Given the description of an element on the screen output the (x, y) to click on. 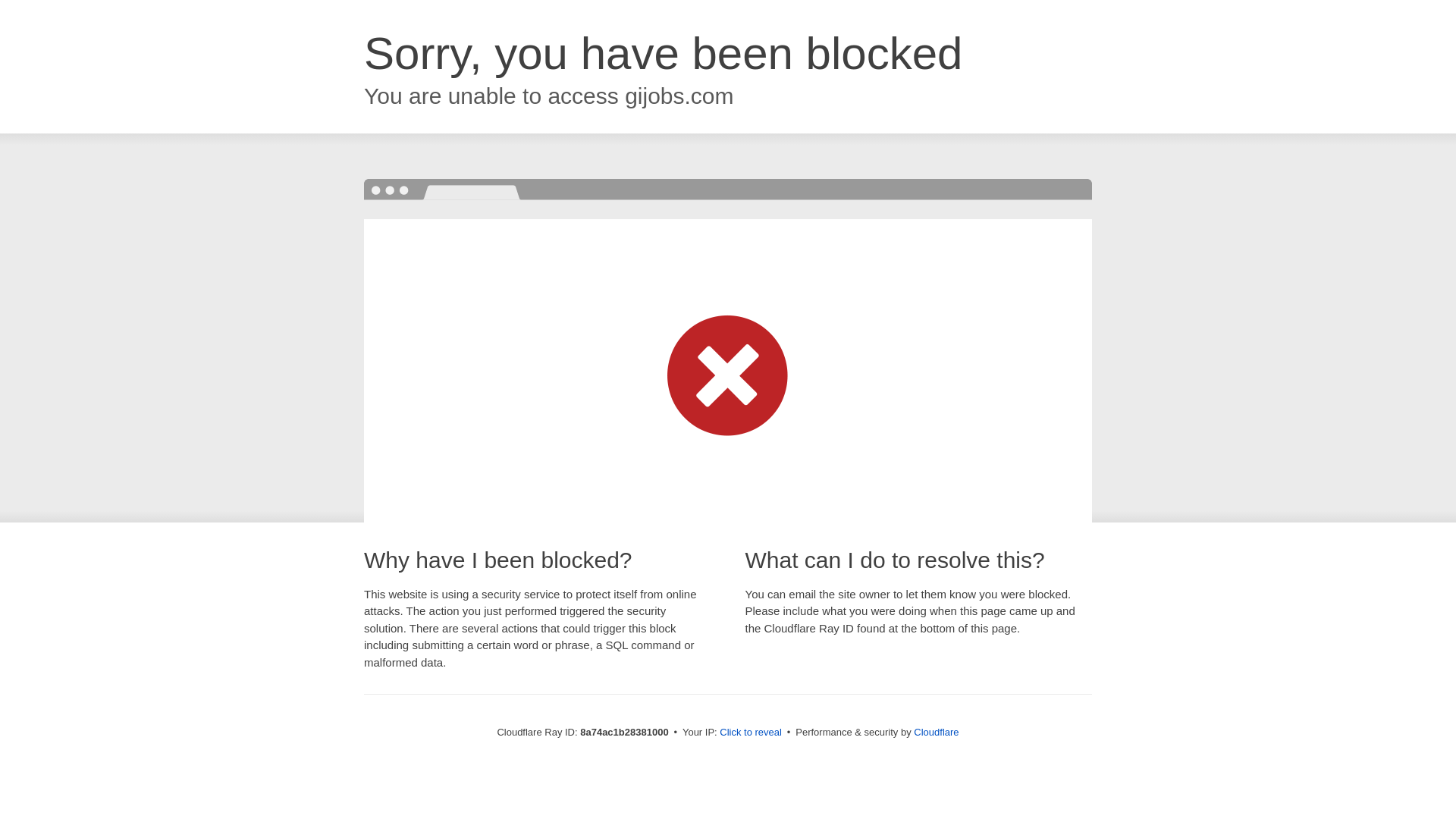
Click to reveal (750, 732)
Cloudflare (936, 731)
